Given the description of an element on the screen output the (x, y) to click on. 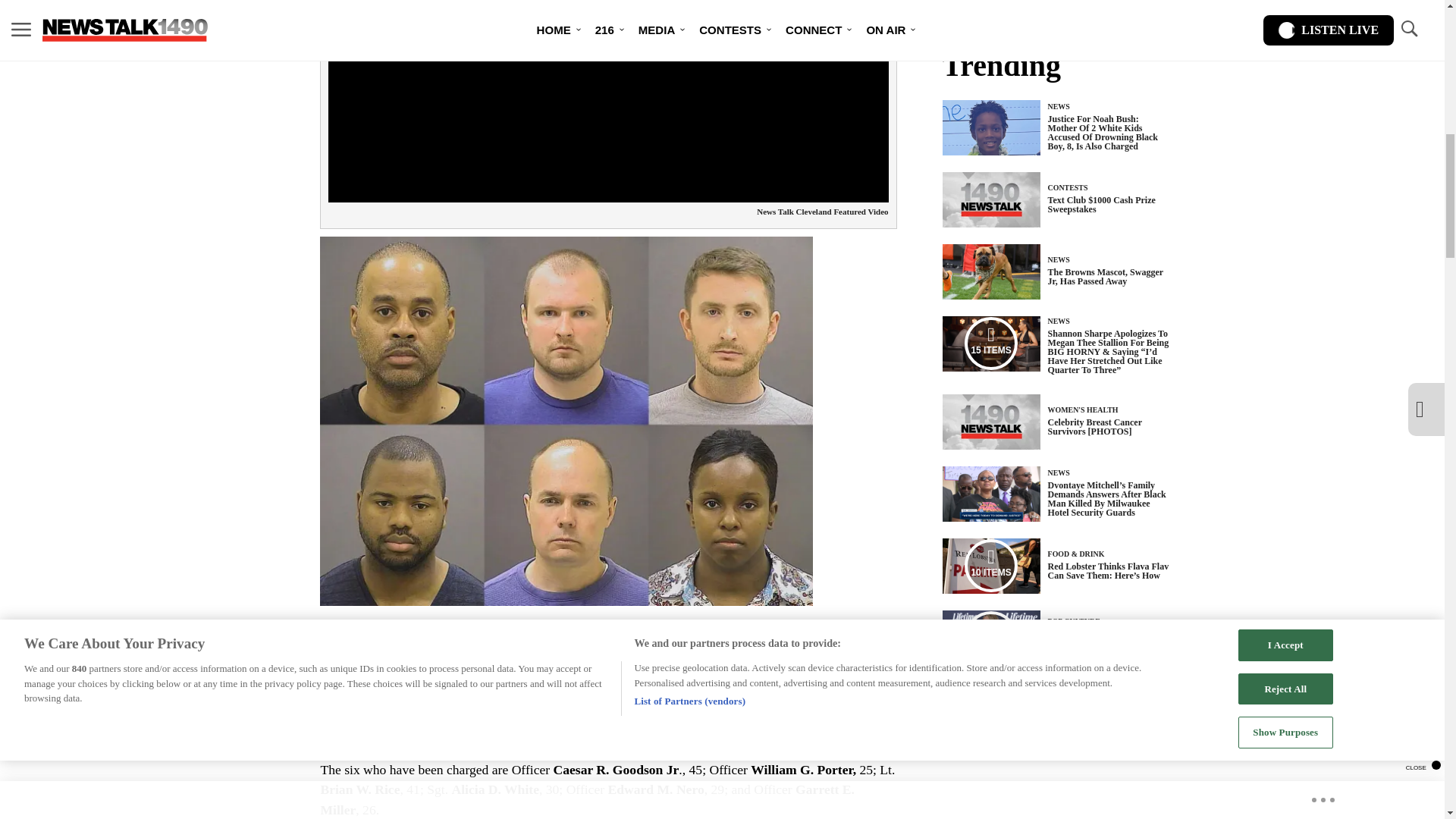
Media Playlist (990, 565)
Media Playlist (990, 343)
Media Playlist (990, 637)
